Given the description of an element on the screen output the (x, y) to click on. 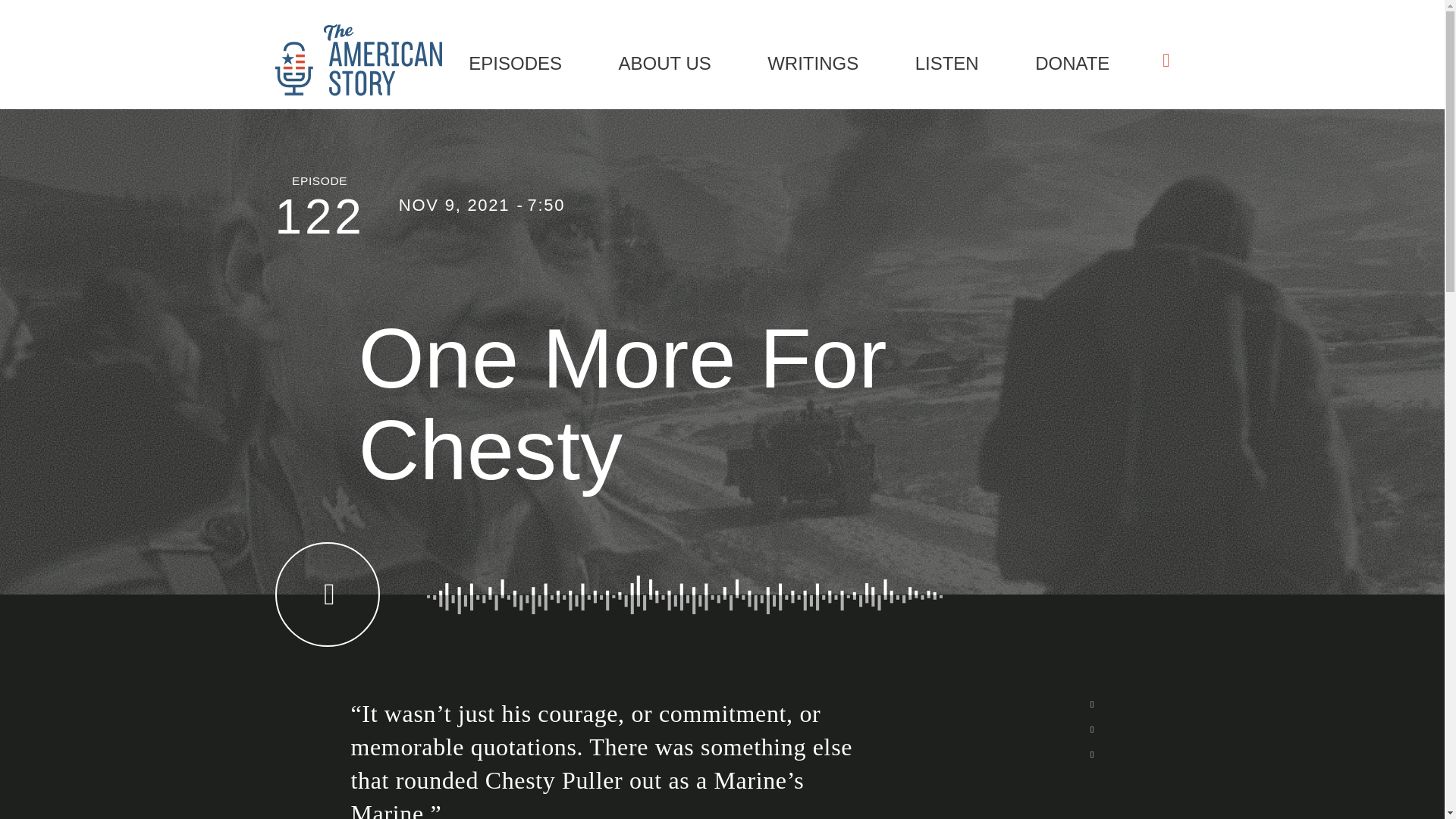
ABOUT US (663, 60)
LISTEN (946, 60)
EPISODES (515, 60)
DONATE (1072, 60)
WRITINGS (813, 60)
